Given the description of an element on the screen output the (x, y) to click on. 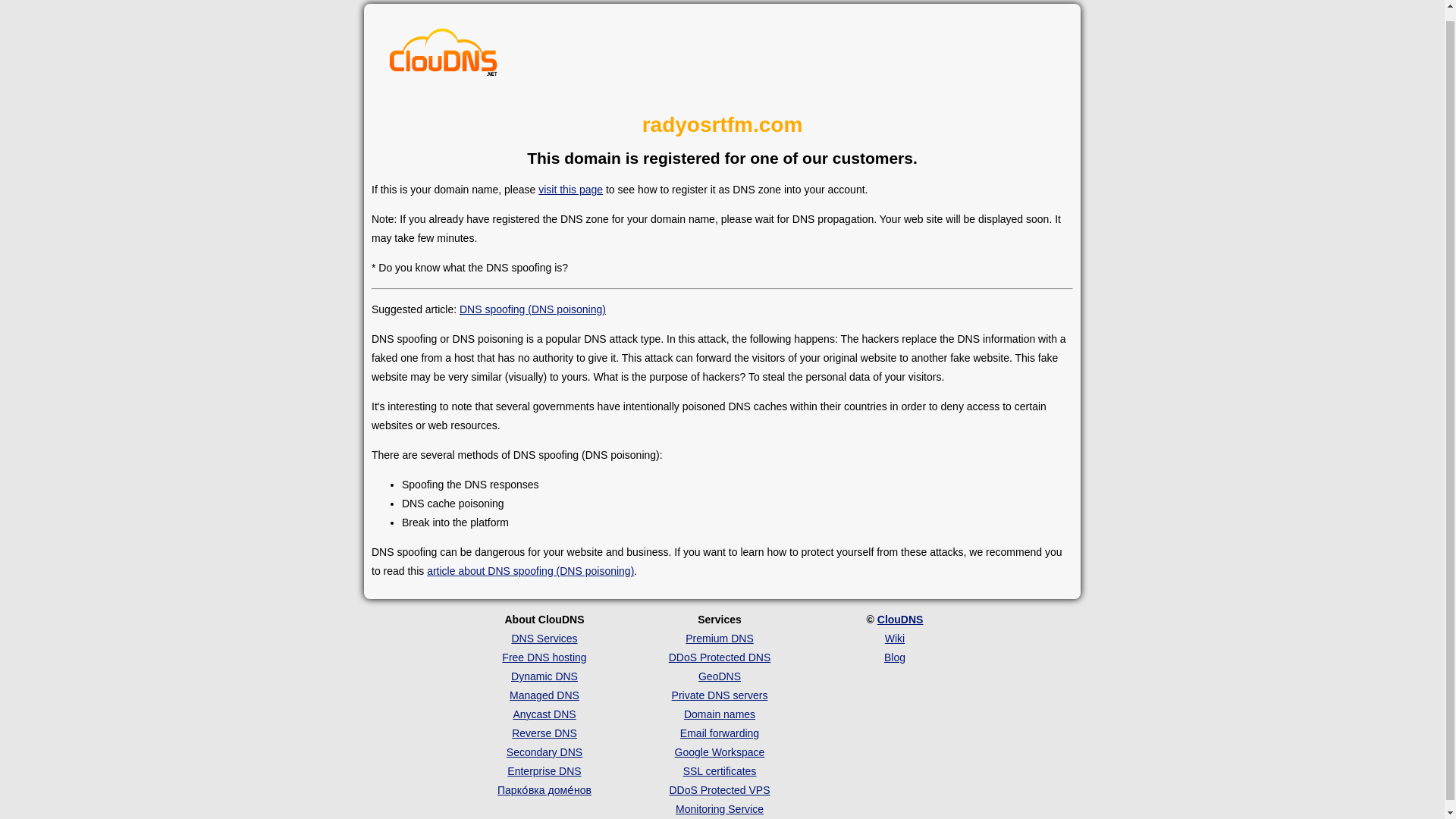
Premium DNS (718, 638)
Secondary DNS (544, 752)
Email forwarding (718, 733)
Google Workspace (720, 752)
Blog (894, 657)
Reverse DNS (544, 733)
SSL certificates (719, 770)
Monitoring Service (718, 808)
DDoS Protected DNS (719, 657)
Domain names (719, 714)
DDoS Protected VPS (719, 789)
Anycast DNS (543, 714)
GeoDNS (719, 676)
Managed DNS (544, 695)
ClouDNS (900, 619)
